Given the description of an element on the screen output the (x, y) to click on. 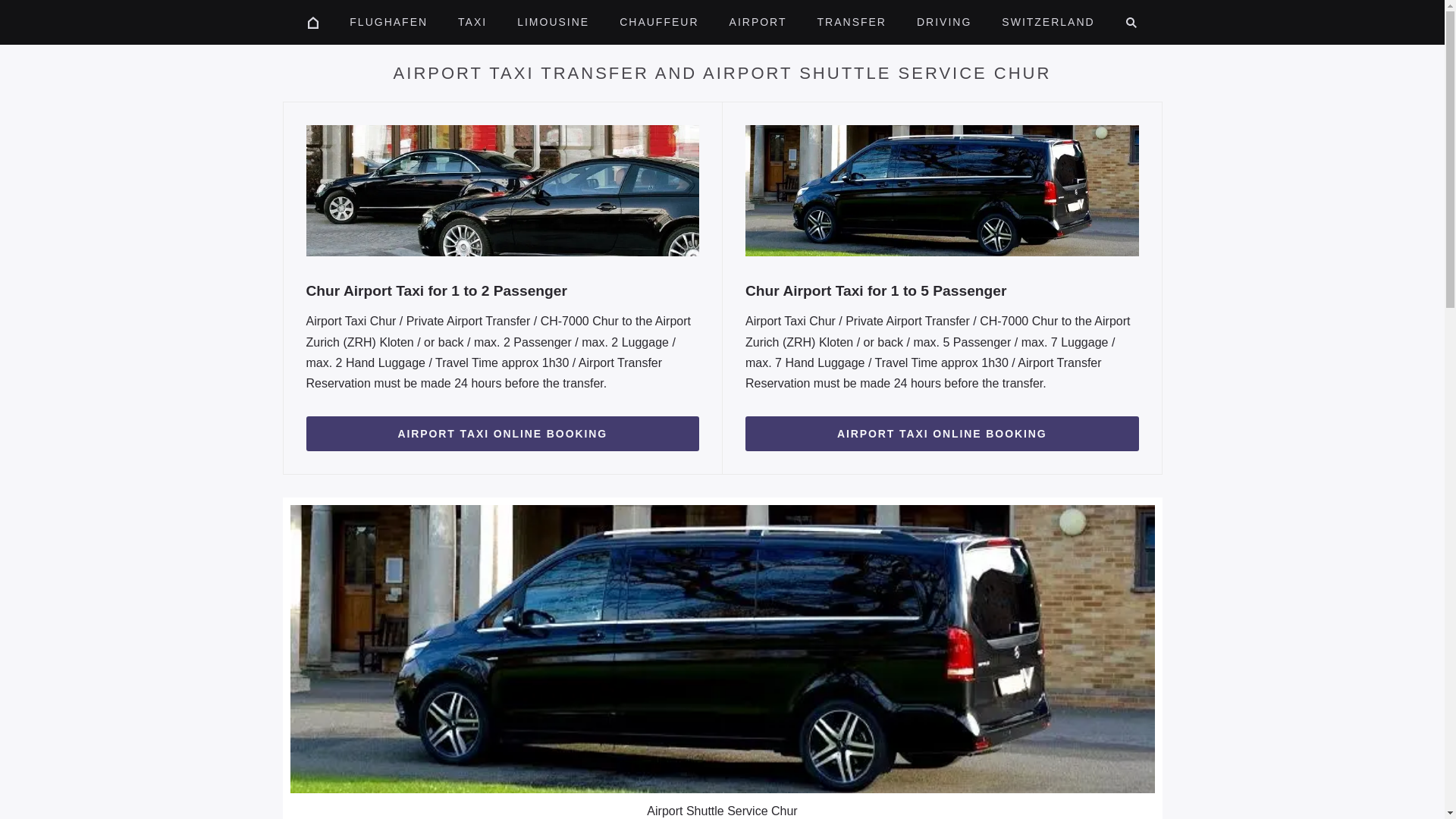
Chur Airport Taxi for 1 to 5 Passenger (941, 291)
CHAUFFEUR (658, 22)
DRIVING (944, 22)
TRANSFER (851, 22)
Chur Airport Taxi for 1 to 2 Passenger (502, 291)
TAXI (472, 22)
LIMOUSINE (553, 22)
AIRPORT (758, 22)
FLUGHAFEN (388, 22)
SWITZERLAND (1048, 22)
AIRPORT TAXI ONLINE BOOKING (502, 433)
AIRPORT TAXI ONLINE BOOKING (941, 433)
